Given the description of an element on the screen output the (x, y) to click on. 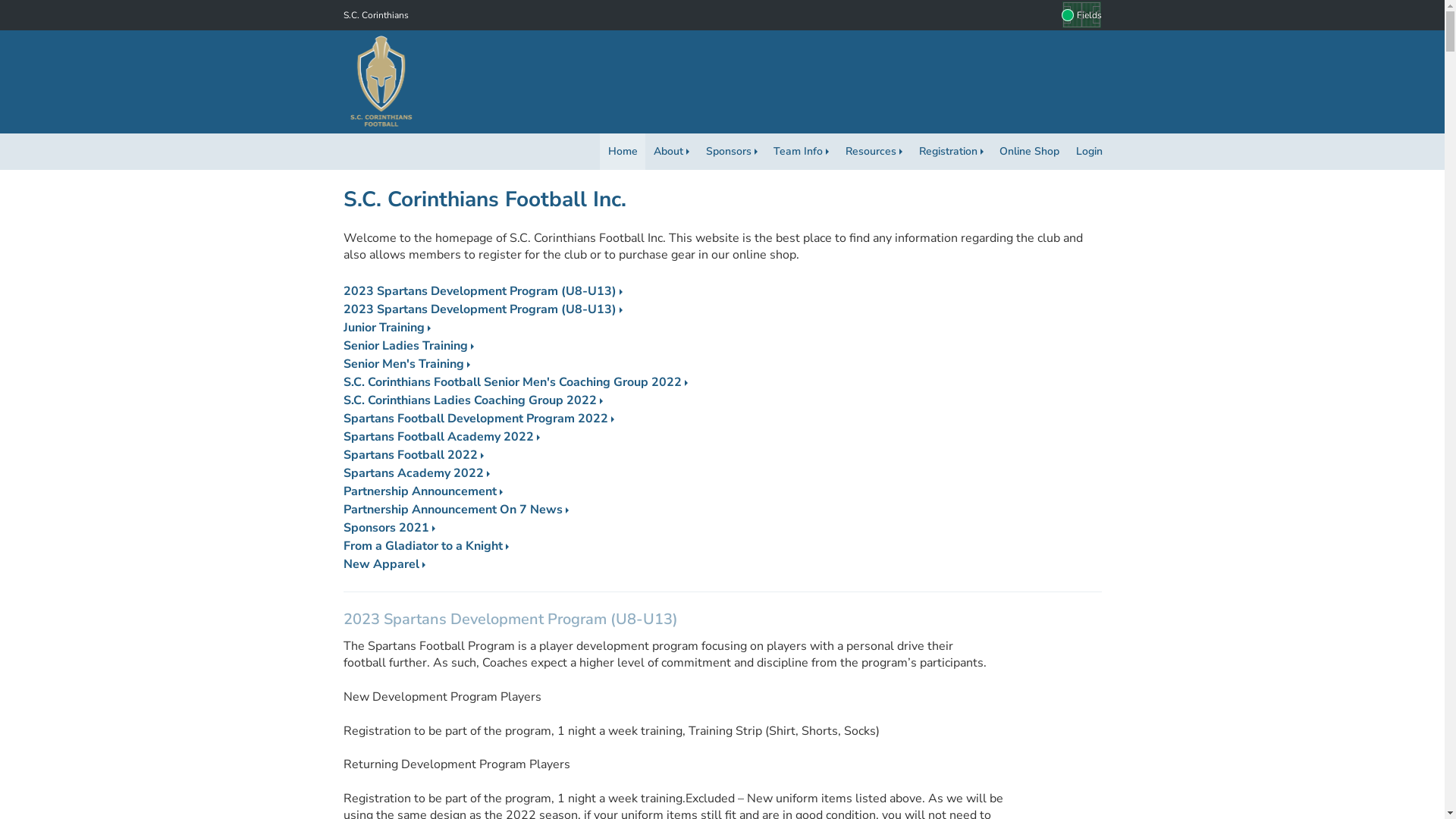
Home Element type: text (622, 151)
About Element type: text (671, 151)
Fields Element type: text (1081, 15)
Spartans Academy 2022 Element type: text (415, 473)
Spartans Football Development Program 2022 Element type: text (477, 418)
New Apparel Element type: text (383, 564)
Senior Ladies Training Element type: text (407, 345)
S.C. Corinthians Ladies Coaching Group 2022 Element type: text (472, 400)
2023 Spartans Development Program (U8-U13) Element type: text (481, 291)
Online Shop Element type: text (1029, 151)
S.C. Corinthians Element type: text (375, 15)
S.C. Corinthians Football Senior Men's Coaching Group 2022 Element type: text (514, 382)
Junior Training Element type: text (385, 327)
Resources Element type: text (873, 151)
Partnership Announcement On 7 News Element type: text (454, 509)
From a Gladiator to a Knight Element type: text (425, 545)
Spartans Football 2022 Element type: text (412, 454)
Team Info Element type: text (801, 151)
Partnership Announcement Element type: text (422, 491)
Sponsors 2021 Element type: text (388, 527)
Login Element type: text (1088, 151)
Senior Men's Training Element type: text (405, 363)
Sponsors Element type: text (731, 151)
Spartans Football Academy 2022 Element type: text (440, 436)
2023 Spartans Development Program (U8-U13) Element type: text (481, 309)
Registration Element type: text (950, 151)
